Given the description of an element on the screen output the (x, y) to click on. 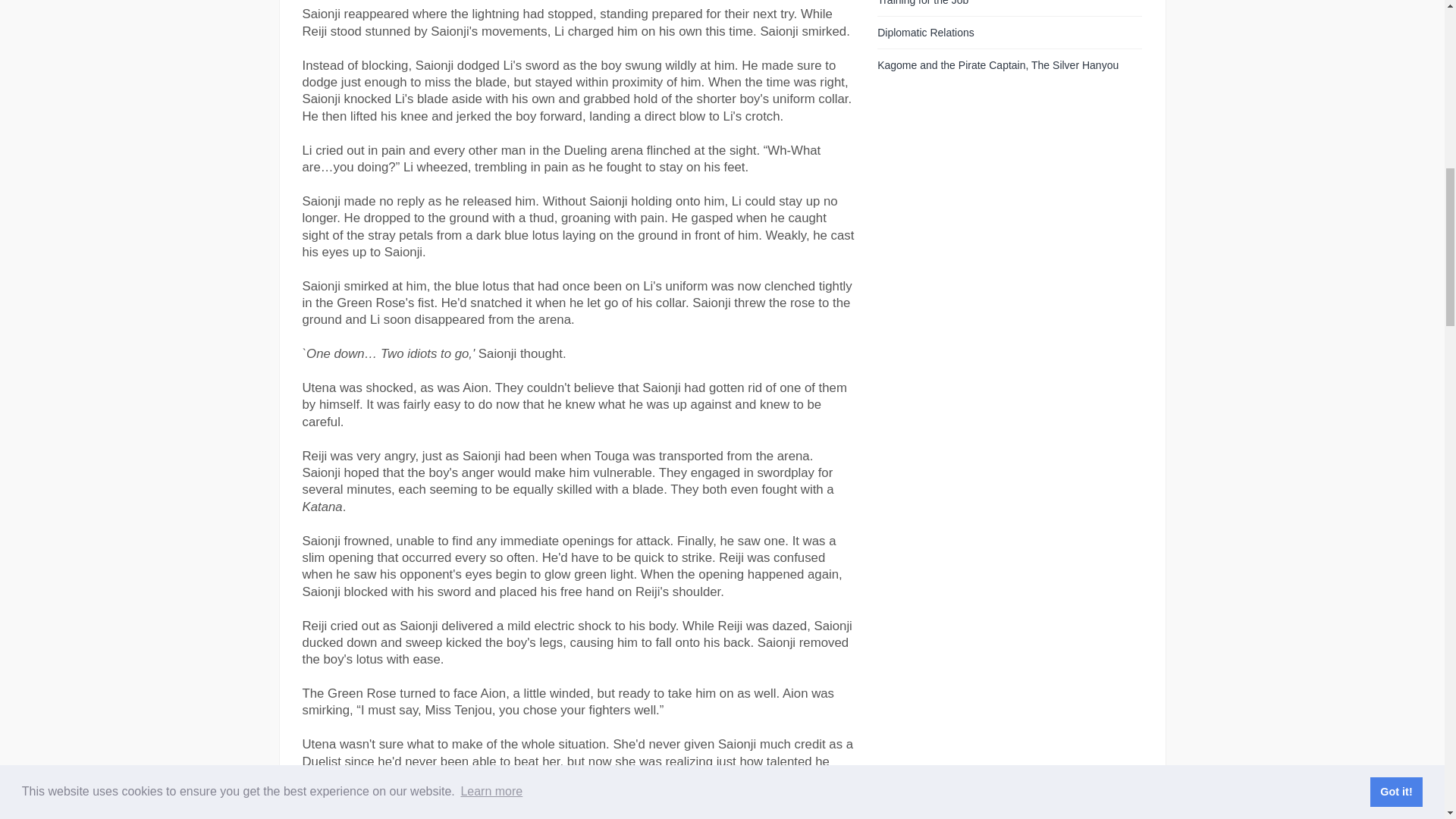
Kagome and the Pirate Captain, The Silver Hanyou (997, 64)
Diplomatic Relations (925, 32)
Training for the Job (922, 2)
